Given the description of an element on the screen output the (x, y) to click on. 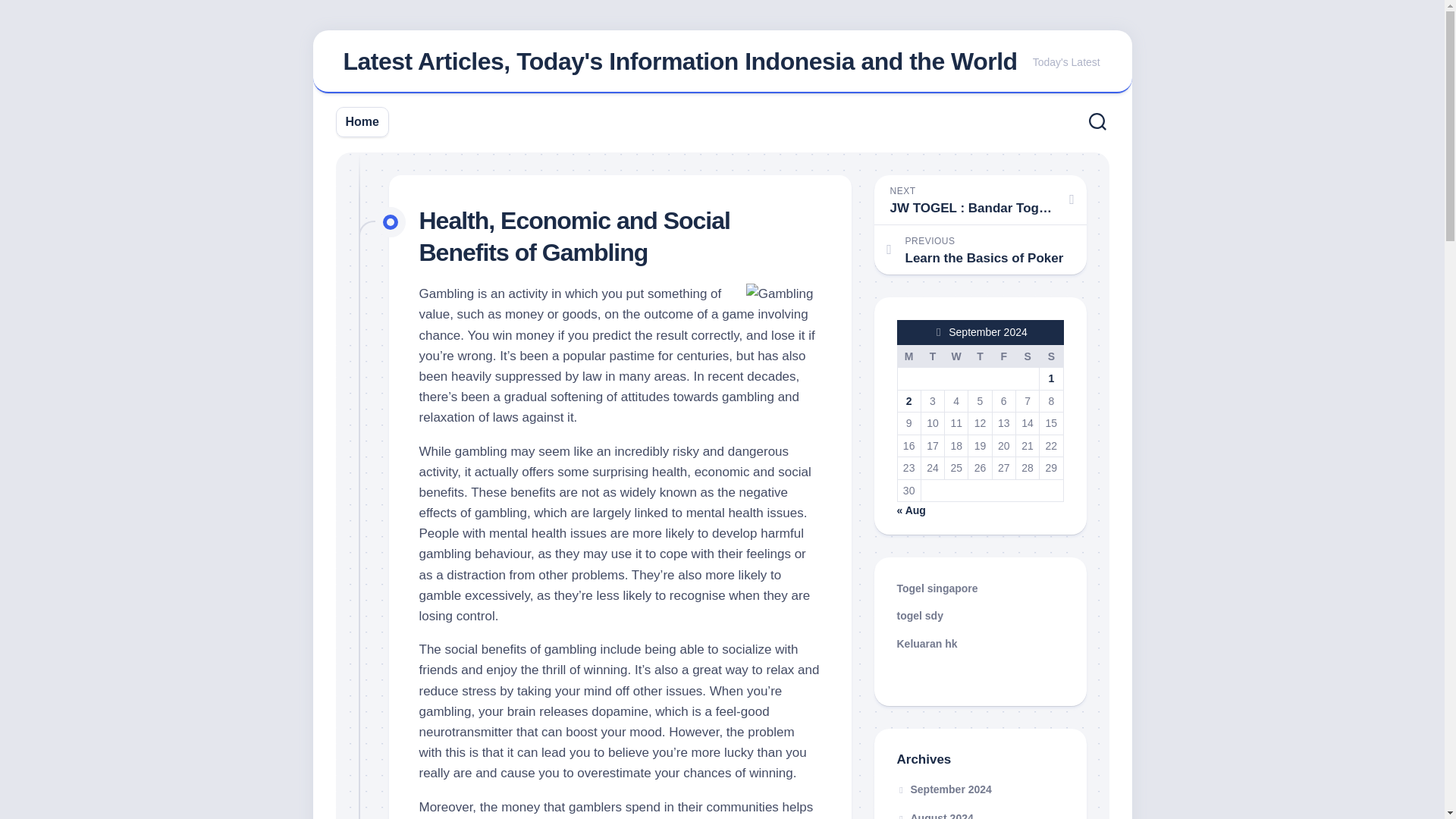
Saturday (1026, 355)
Keluaran hk (926, 643)
Tuesday (931, 355)
Wednesday (956, 355)
Latest Articles, Today's Information Indonesia and the World (679, 61)
Home (362, 121)
Sunday (1050, 355)
togel sdy (919, 615)
Togel singapore (936, 588)
